Given the description of an element on the screen output the (x, y) to click on. 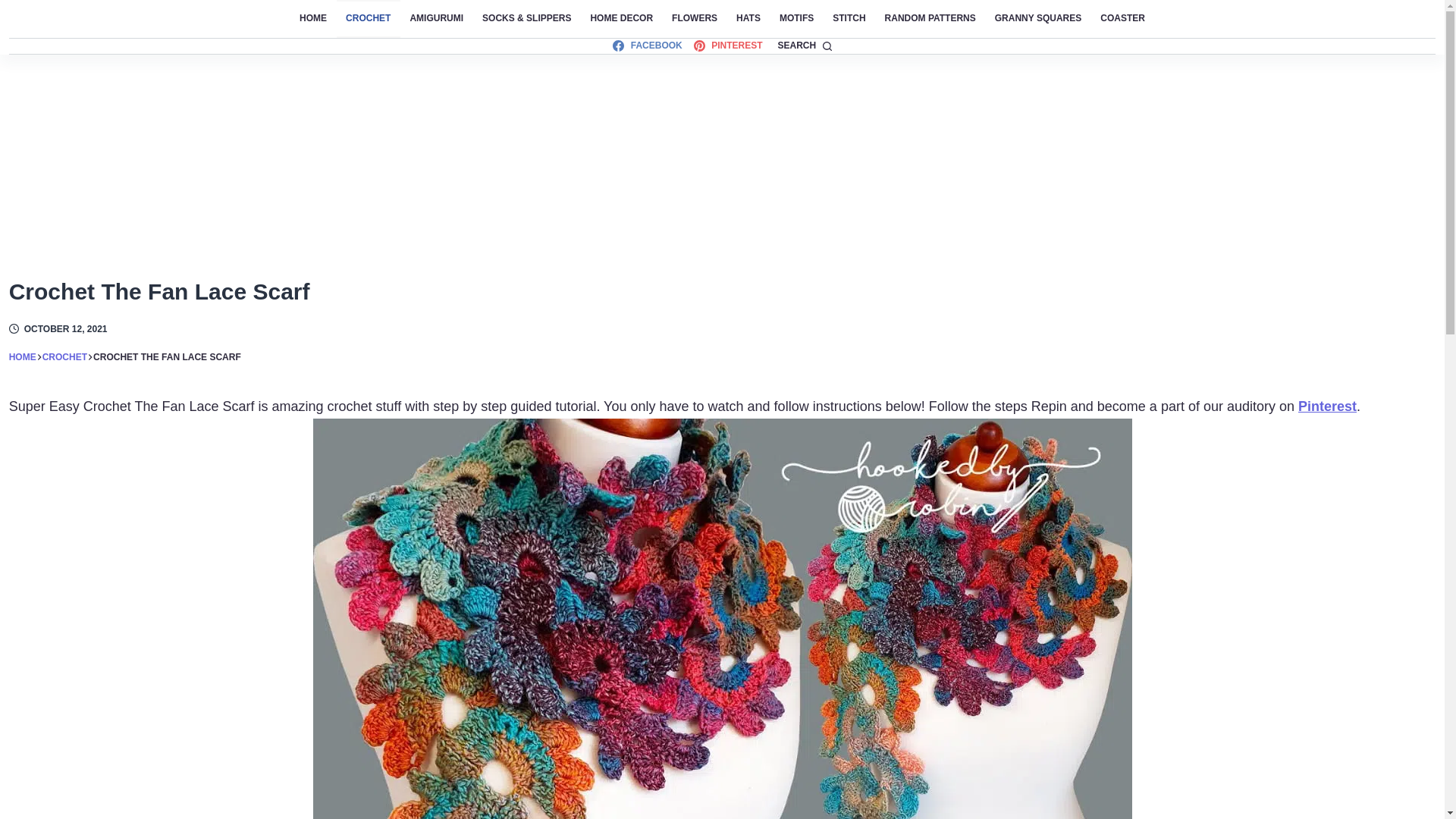
HOME (22, 357)
Pinterest (1327, 406)
FLOWERS (694, 18)
HOME (312, 18)
Skip to content (15, 7)
STITCH (849, 18)
CROCHET (368, 18)
FACEBOOK (646, 46)
HATS (748, 18)
GRANNY SQUARES (1037, 18)
SEARCH (804, 46)
HOME DECOR (621, 18)
CROCHET (64, 357)
Crochet The Fan Lace Scarf (721, 291)
COASTER (1122, 18)
